Given the description of an element on the screen output the (x, y) to click on. 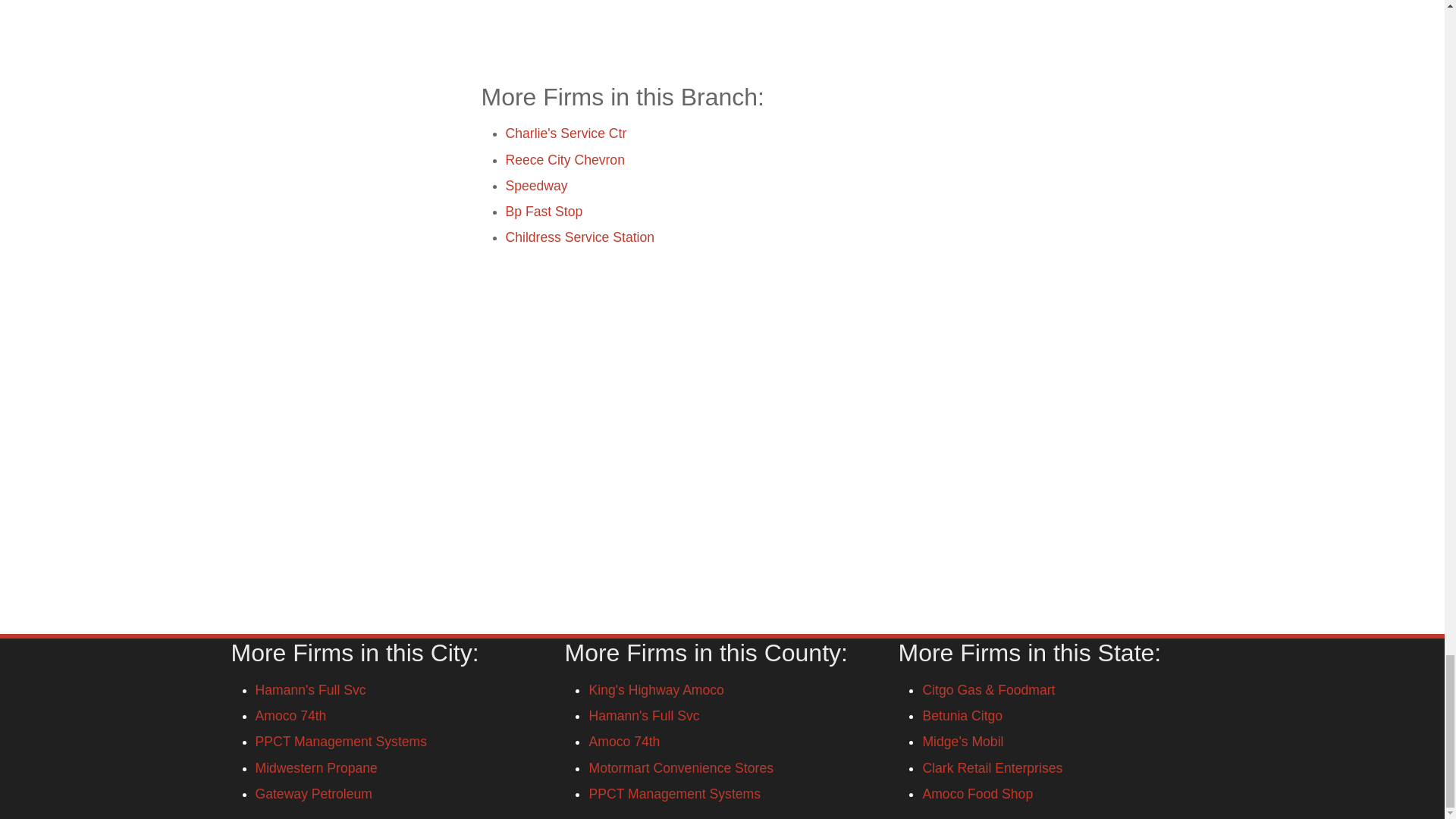
Bp Fast Stop (543, 211)
Speedway (536, 185)
Childress Service Station (579, 237)
Charlie's Service Ctr (565, 133)
Reece City Chevron (564, 159)
